Given the description of an element on the screen output the (x, y) to click on. 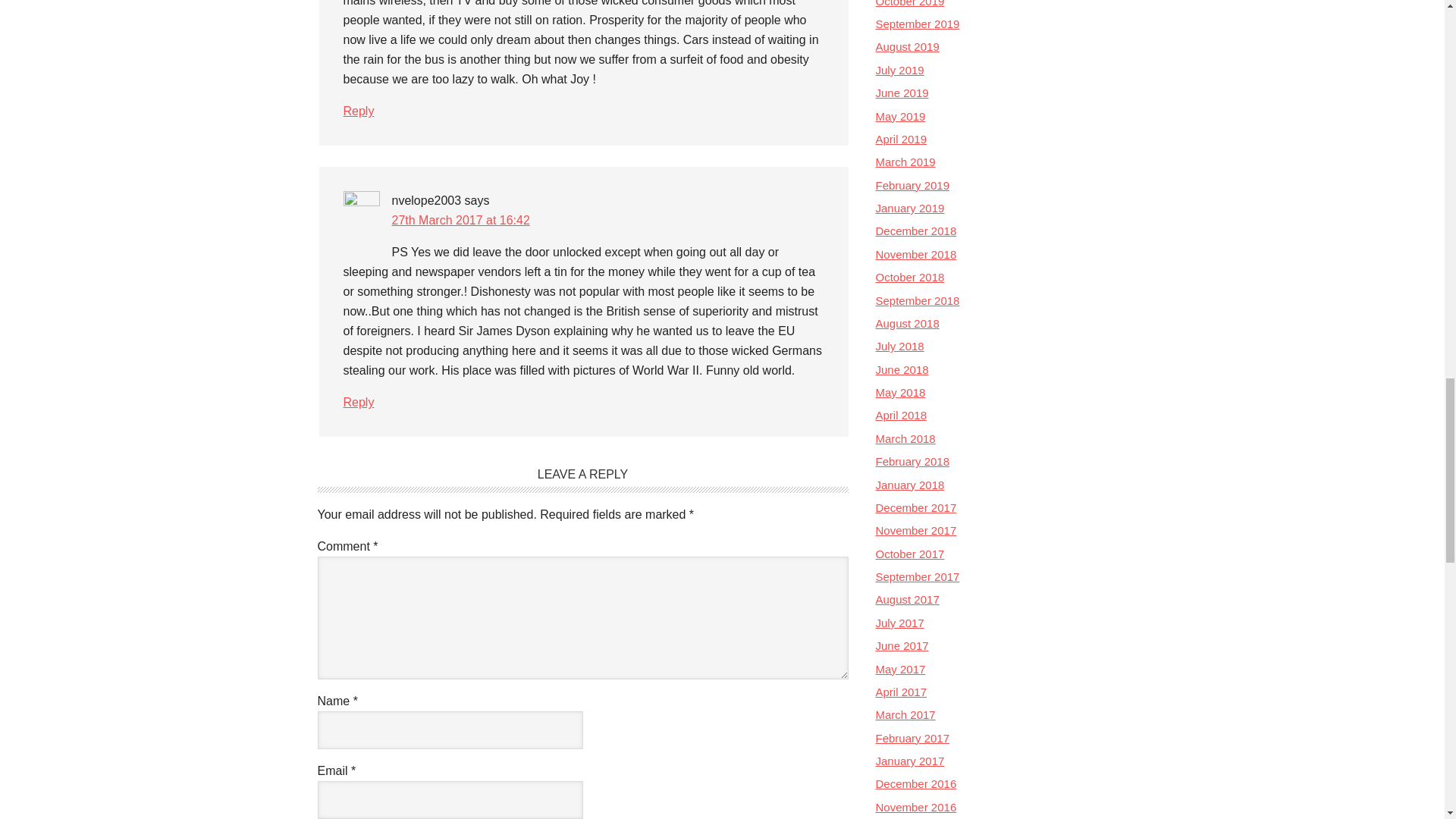
Reply (358, 401)
27th March 2017 at 16:42 (460, 219)
Reply (358, 110)
